Given the description of an element on the screen output the (x, y) to click on. 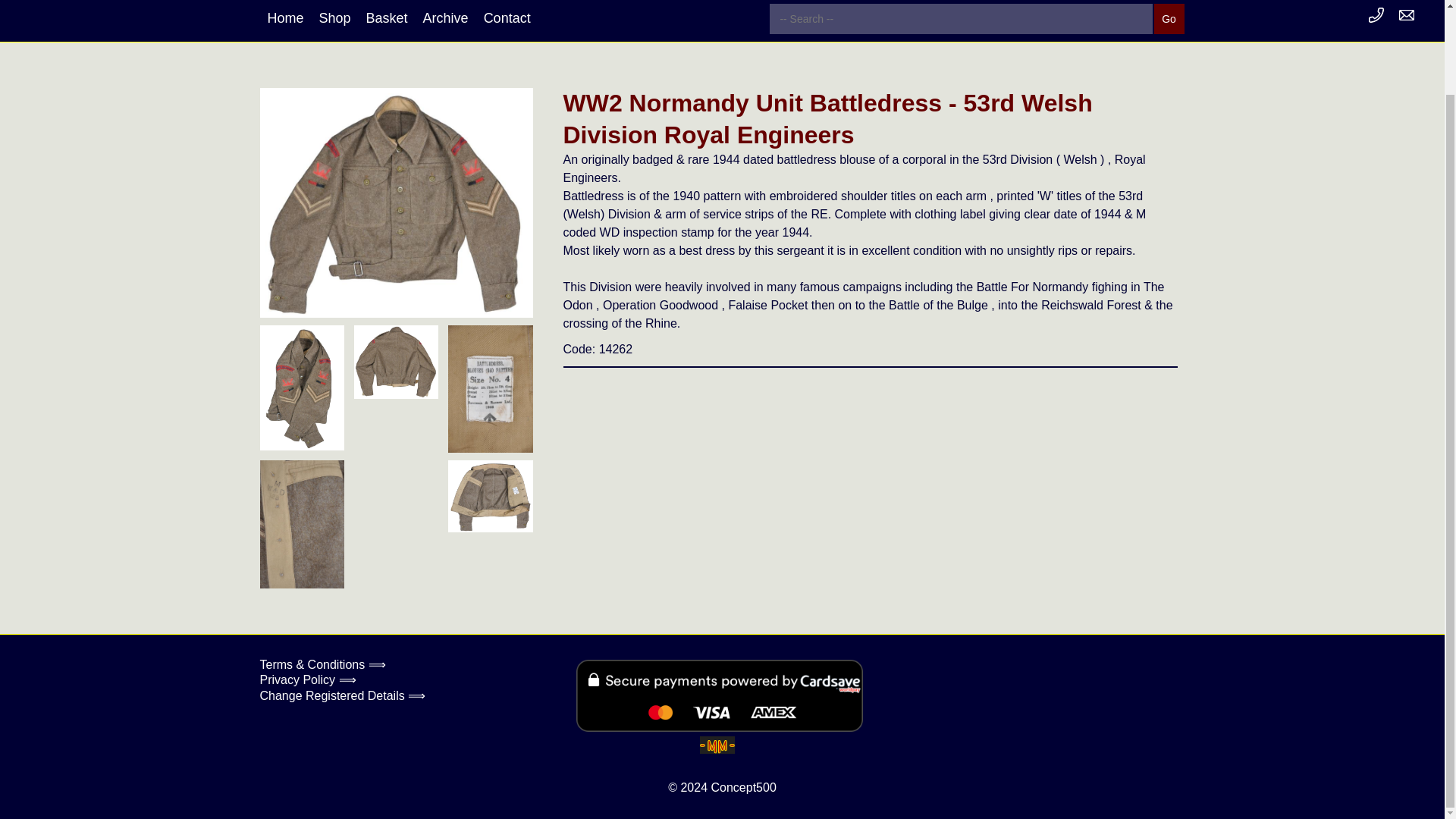
Cardsave (719, 696)
Go (1169, 19)
Go (1169, 19)
Concept500 (743, 787)
Contact (507, 18)
Home (285, 18)
Shop (334, 18)
Archive (445, 18)
Basket (386, 18)
